Given the description of an element on the screen output the (x, y) to click on. 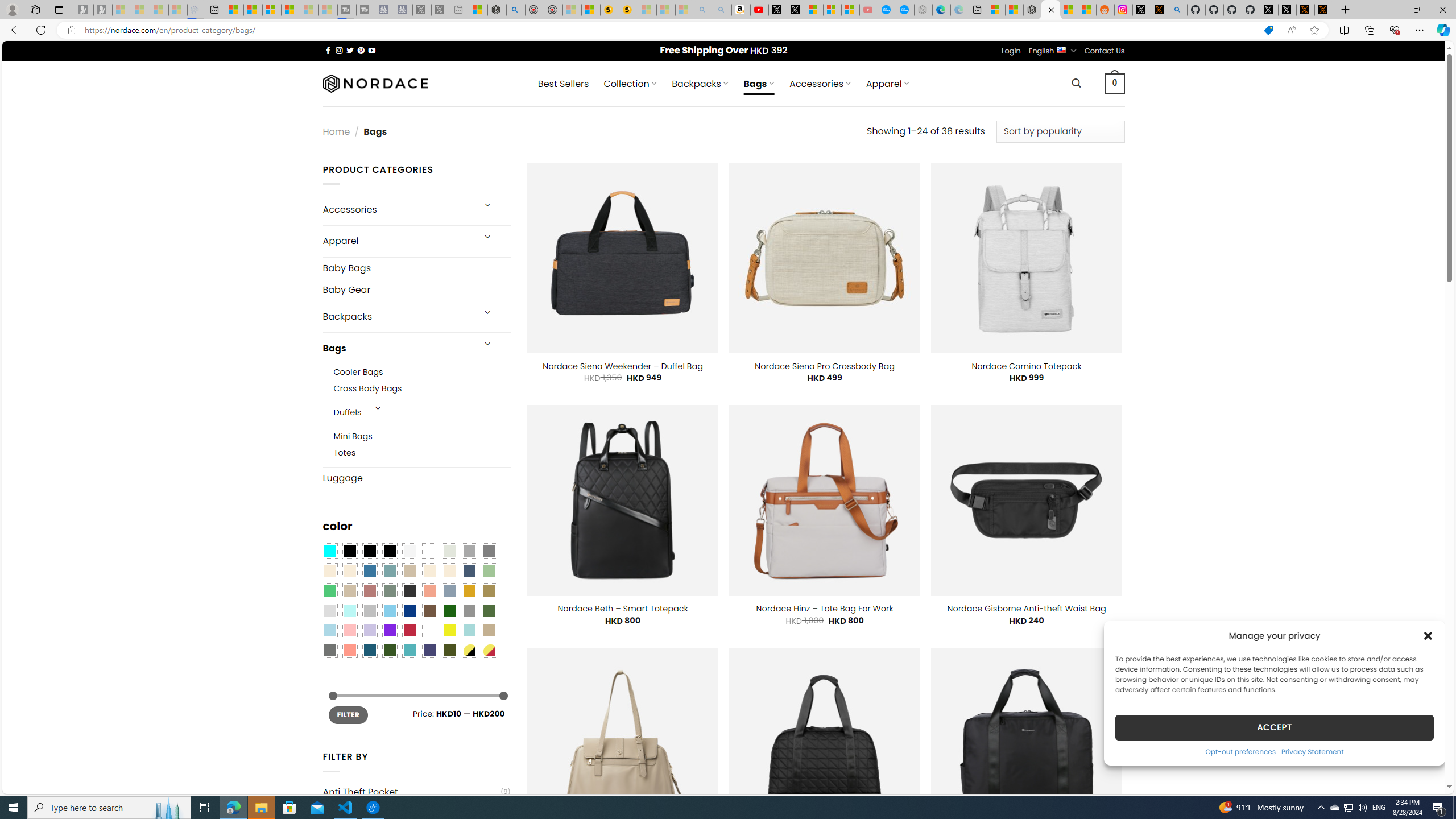
Clear (429, 550)
Caramel (429, 570)
Personal Profile (12, 9)
Dusty Blue (449, 590)
Cross Body Bags (422, 388)
Cream (449, 570)
Amazon Echo Dot PNG - Search Images - Sleeping (721, 9)
Nordace - Summer Adventures 2024 (497, 9)
amazon - Search - Sleeping (702, 9)
X (795, 9)
Opinion: Op-Ed and Commentary - USA TODAY (887, 9)
 0  (1115, 83)
